Given the description of an element on the screen output the (x, y) to click on. 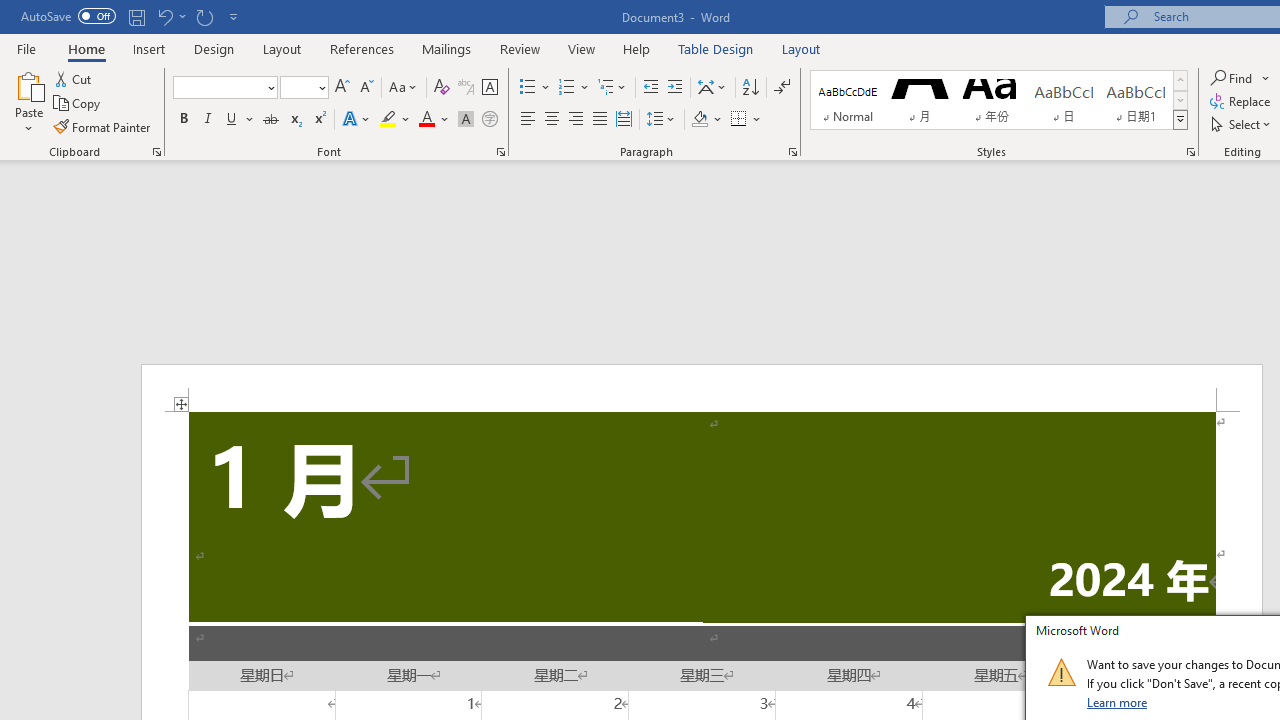
Italic (207, 119)
Font... (500, 151)
Table Design (715, 48)
Repeat Doc Close (204, 15)
Styles (1179, 120)
Shrink Font (365, 87)
Text Highlight Color (395, 119)
Strikethrough (270, 119)
Undo Distribute Para (170, 15)
